Given the description of an element on the screen output the (x, y) to click on. 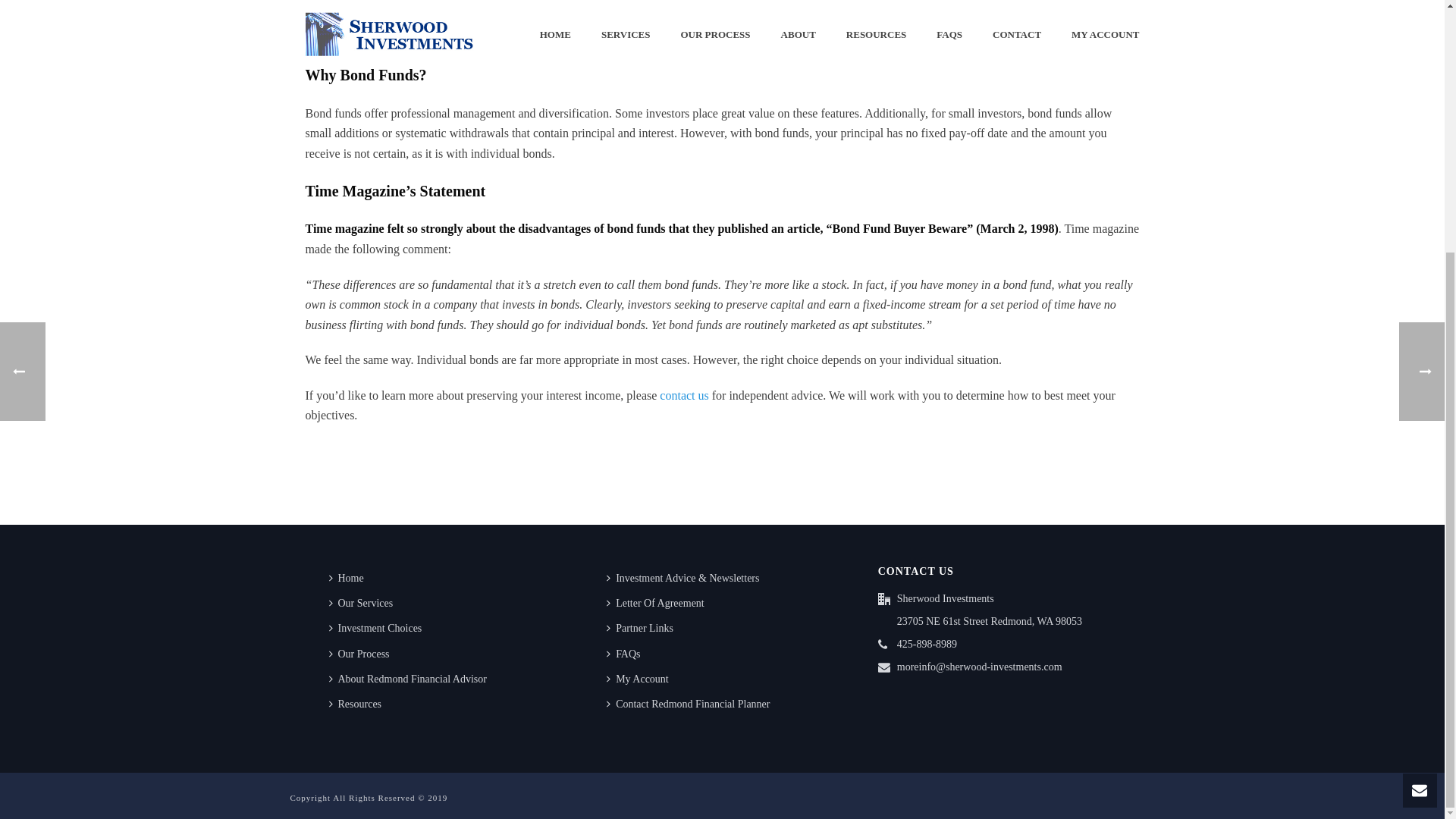
Partner Links (643, 627)
FAQs (626, 653)
Our Process (362, 653)
About Redmond Financial Advisor (410, 678)
Letter Of Agreement (659, 602)
My Account (640, 678)
contact us (683, 395)
Contact Redmond Financial Planner (691, 703)
Resources (358, 703)
Our Services (364, 602)
